Given the description of an element on the screen output the (x, y) to click on. 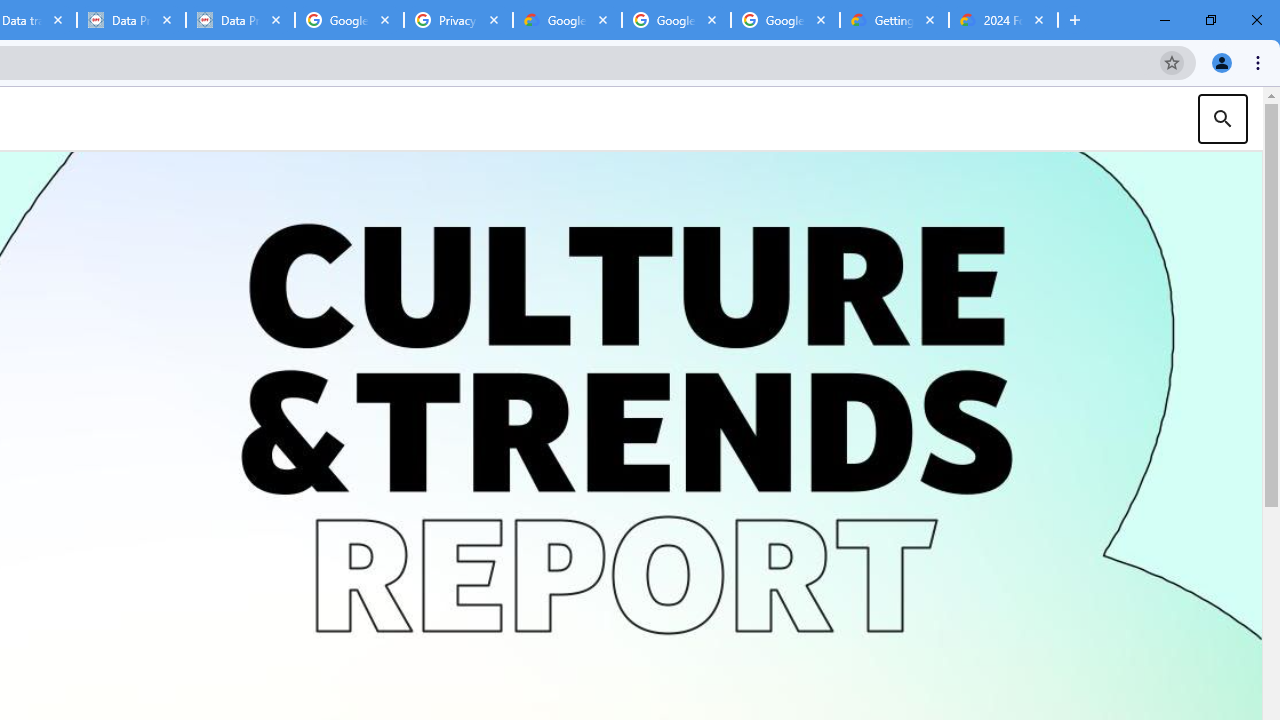
Data Privacy Framework (130, 20)
Google Workspace - Specific Terms (676, 20)
Google Workspace - Specific Terms (784, 20)
Data Privacy Framework (240, 20)
Google Cloud Terms Directory | Google Cloud (567, 20)
